Given the description of an element on the screen output the (x, y) to click on. 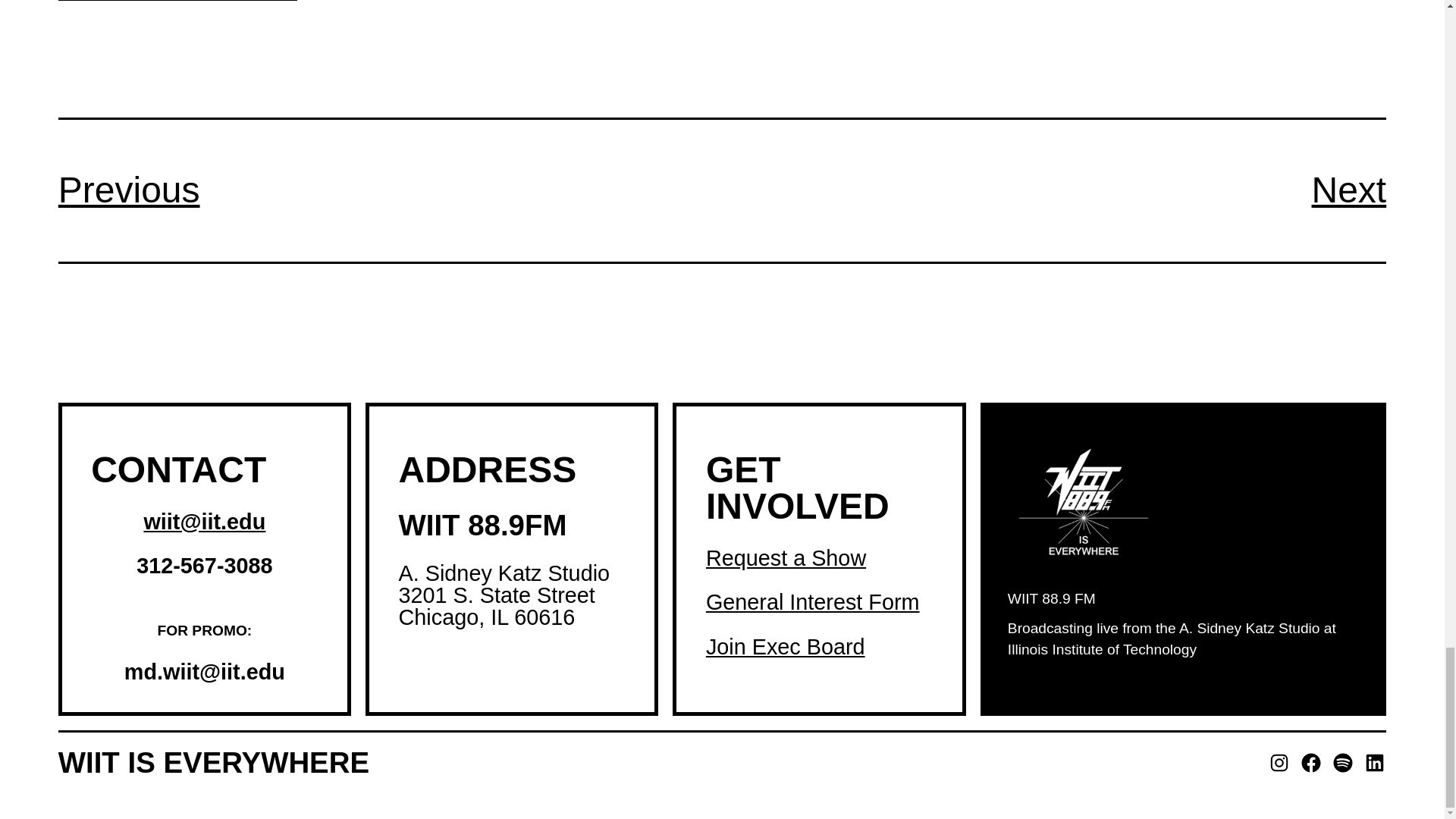
General Interest Form (813, 601)
Previous (129, 189)
Request a Show (786, 558)
Next (1349, 189)
